Given the description of an element on the screen output the (x, y) to click on. 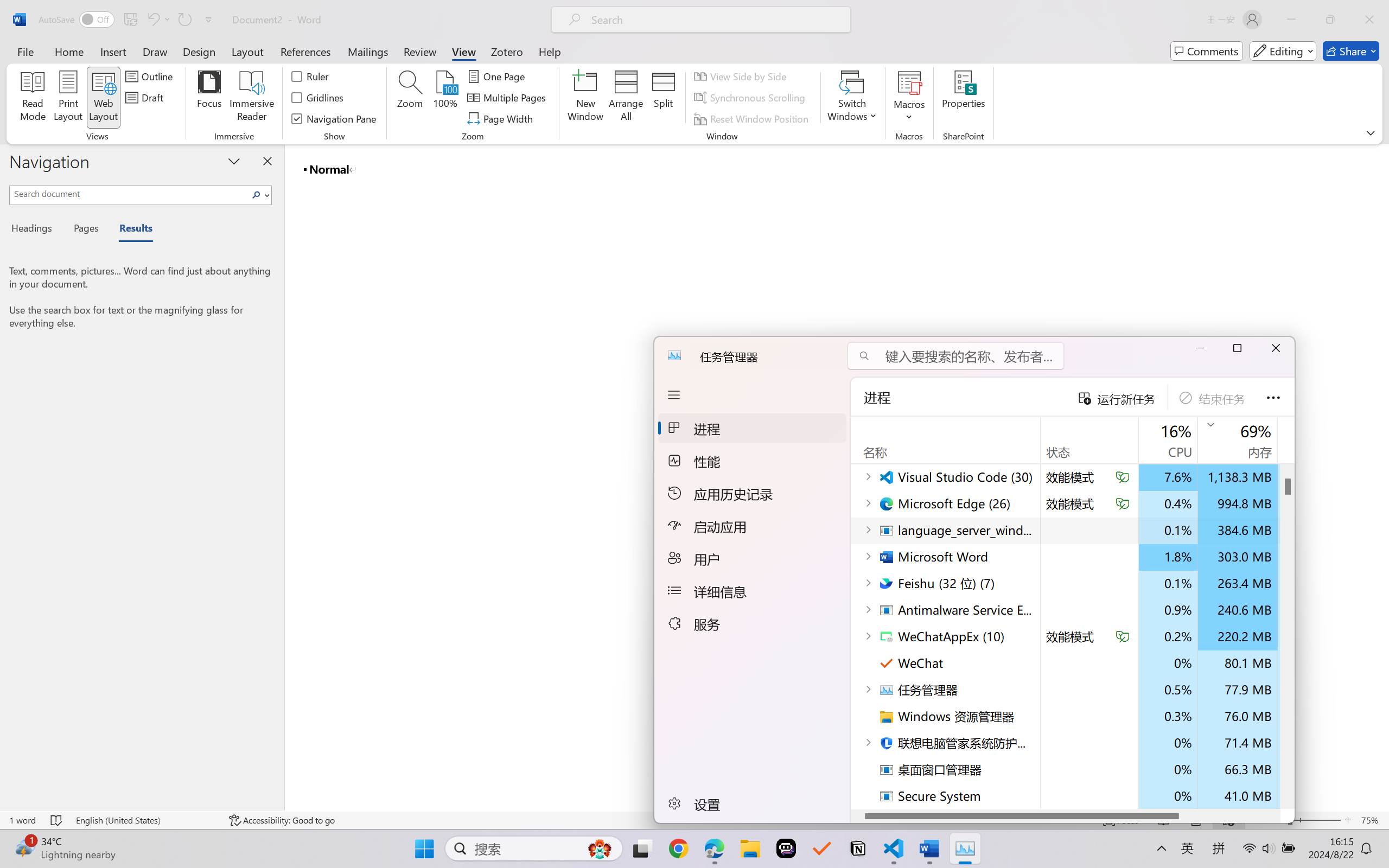
Mode (1283, 50)
Search (256, 194)
Google Chrome (679, 848)
Undo <ApplyStyleToDoc>b__0 (152, 19)
Help (549, 51)
Undo <ApplyStyleToDoc>b__0 (158, 19)
Search (259, 194)
Macros (909, 97)
Split (663, 97)
One Page (497, 75)
